Given the description of an element on the screen output the (x, y) to click on. 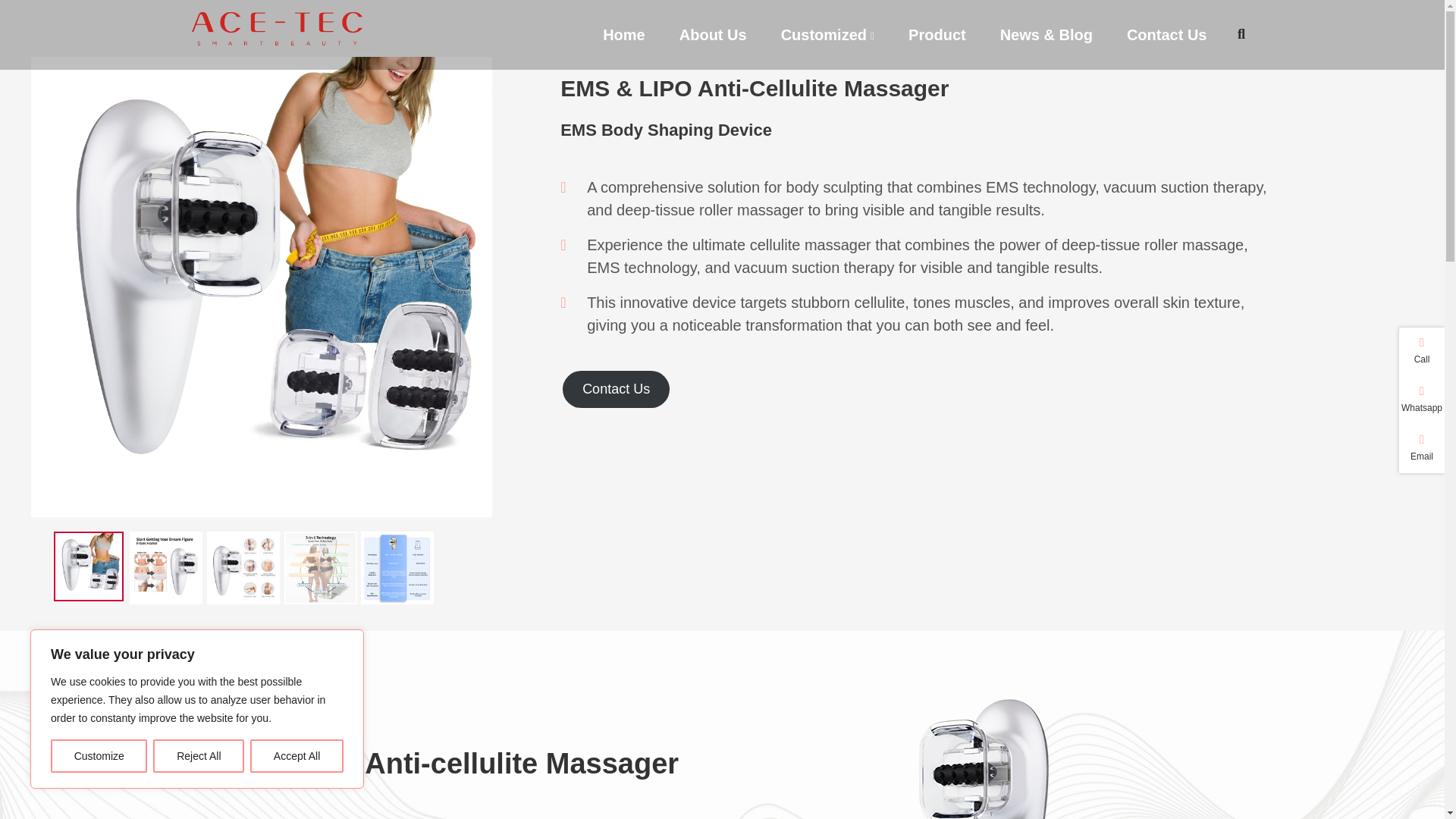
About Us (712, 28)
Customized (823, 28)
Contact Us (615, 389)
Reject All (198, 756)
Accept All (296, 756)
Contact Us (1166, 28)
Customize (98, 756)
Product (937, 28)
